Given the description of an element on the screen output the (x, y) to click on. 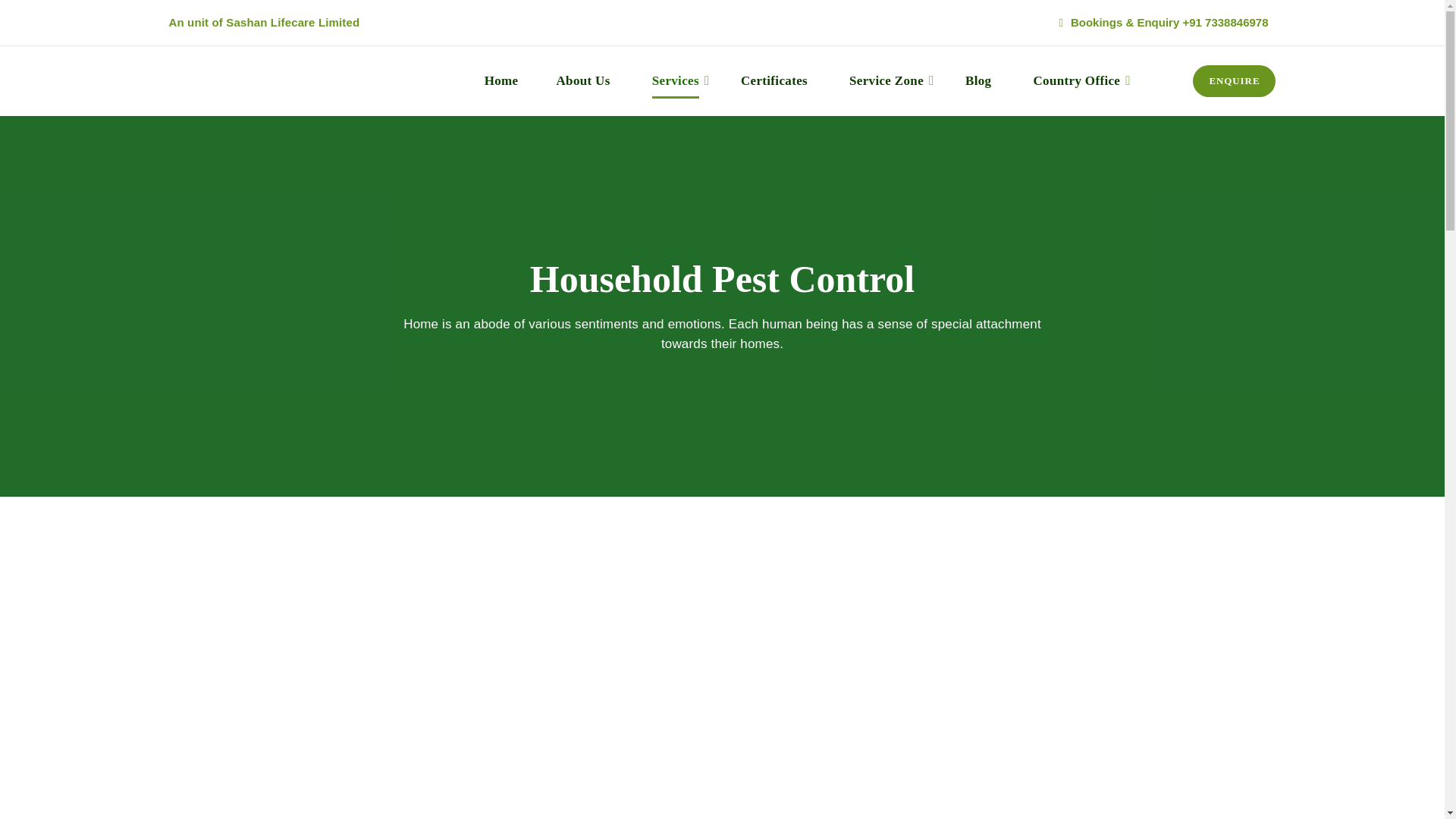
Service Zone (885, 80)
Certificates (774, 80)
DelmanExpert (282, 79)
